Given the description of an element on the screen output the (x, y) to click on. 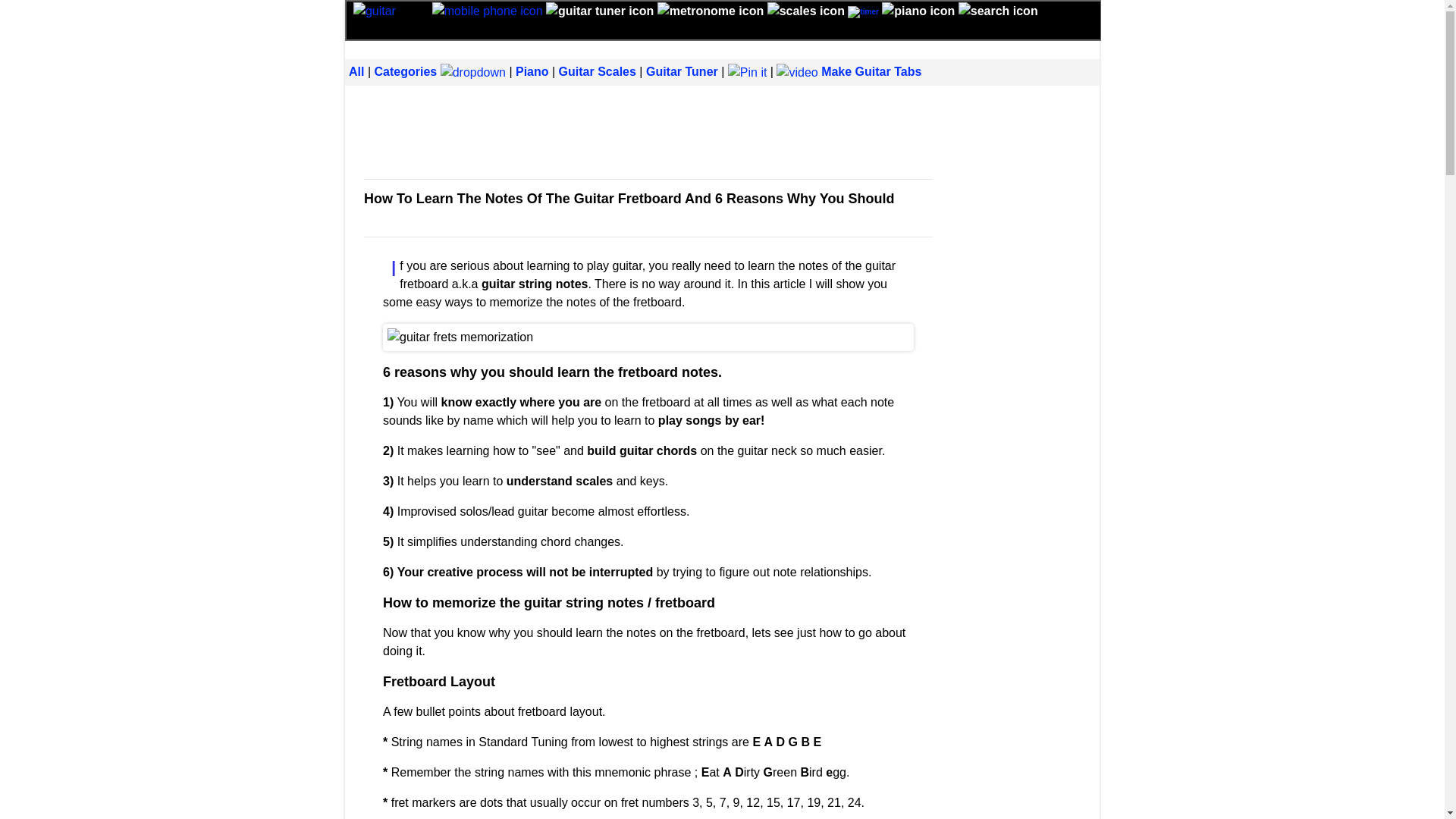
Guitar Lesson Categories (473, 71)
Switch to mobile site version (487, 10)
Make Guitar TABs free! (848, 71)
Guitar Scales (597, 71)
Guitar Scales (597, 71)
Pin it (747, 71)
Piano (531, 71)
Guitar scales (805, 10)
Make Guitar Tabs (848, 71)
pop out practice timer in new browser window (862, 11)
